Given the description of an element on the screen output the (x, y) to click on. 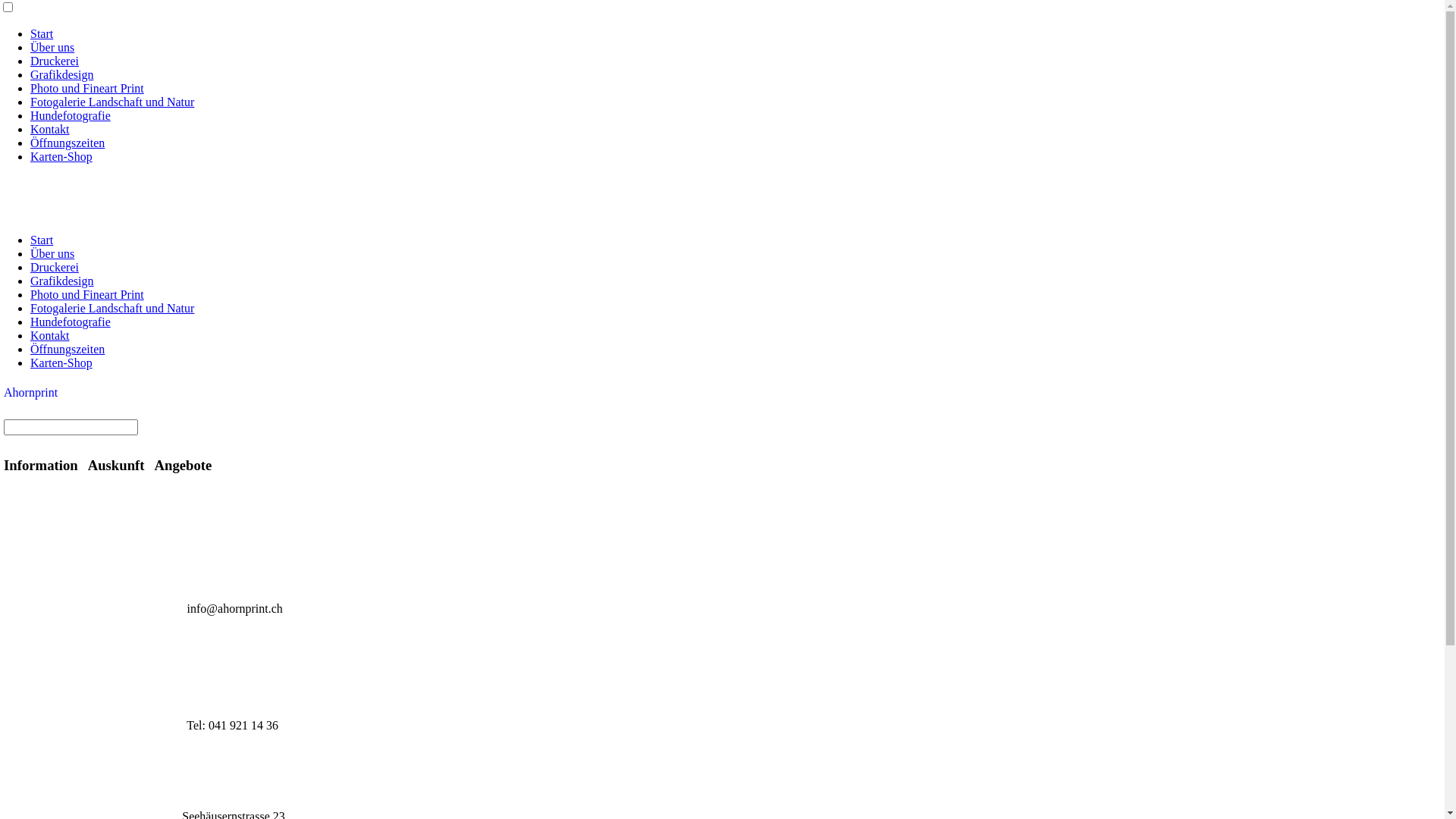
Fotogalerie Landschaft und Natur Element type: text (112, 101)
Karten-Shop Element type: text (61, 362)
Druckerei Element type: text (54, 266)
Photo und Fineart Print Element type: text (87, 294)
Photo und Fineart Print Element type: text (87, 87)
Karten-Shop Element type: text (61, 156)
Grafikdesign Element type: text (62, 74)
Kontakt Element type: text (49, 335)
Start Element type: text (41, 239)
Fotogalerie Landschaft und Natur Element type: text (112, 307)
Kontakt Element type: text (49, 128)
Druckerei Element type: text (54, 60)
Hundefotografie Element type: text (70, 321)
Start Element type: text (41, 33)
Hundefotografie Element type: text (70, 115)
Ahornprint Element type: text (30, 391)
Grafikdesign Element type: text (62, 280)
